Given the description of an element on the screen output the (x, y) to click on. 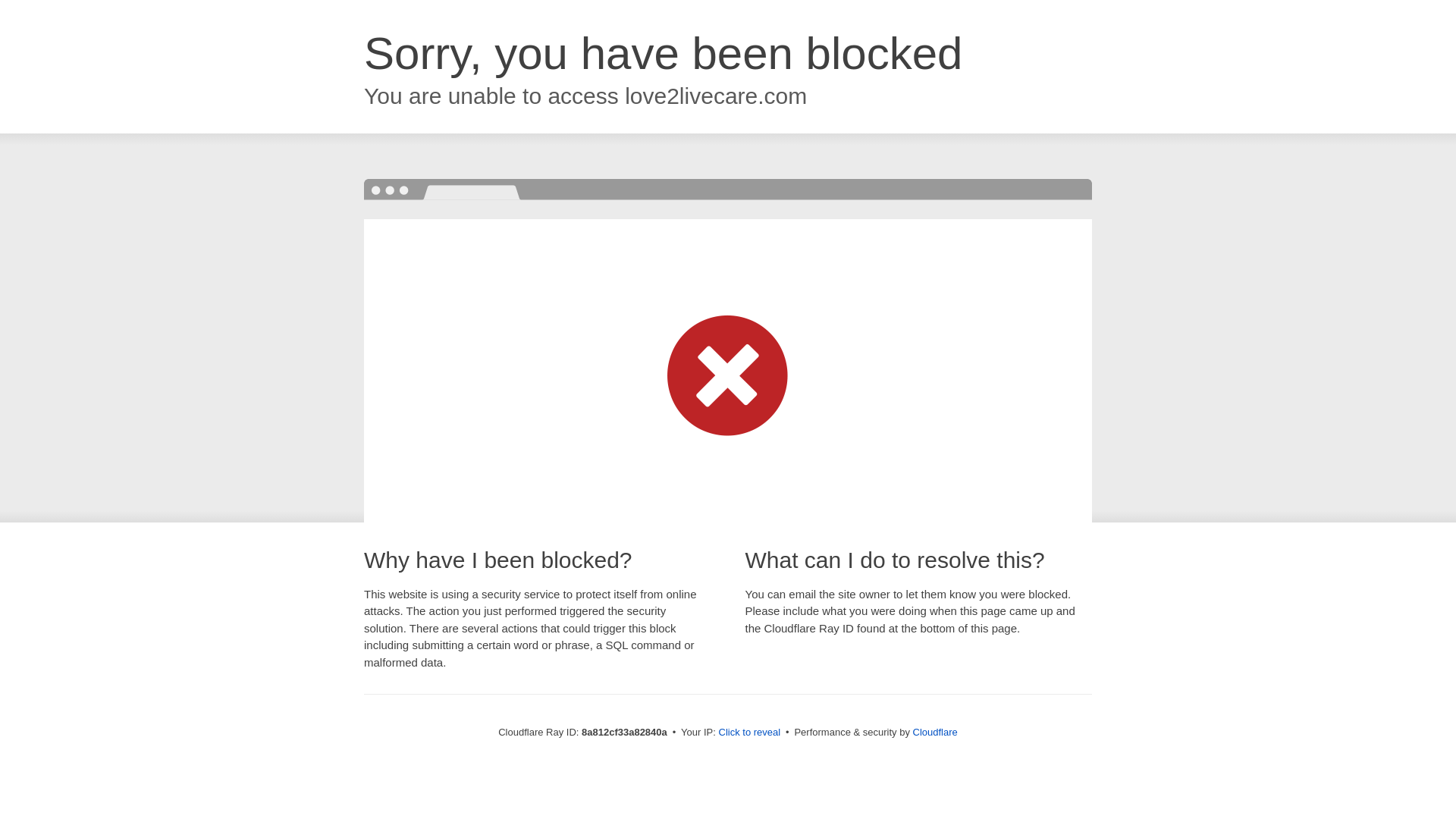
Click to reveal (749, 732)
Cloudflare (935, 731)
